Given the description of an element on the screen output the (x, y) to click on. 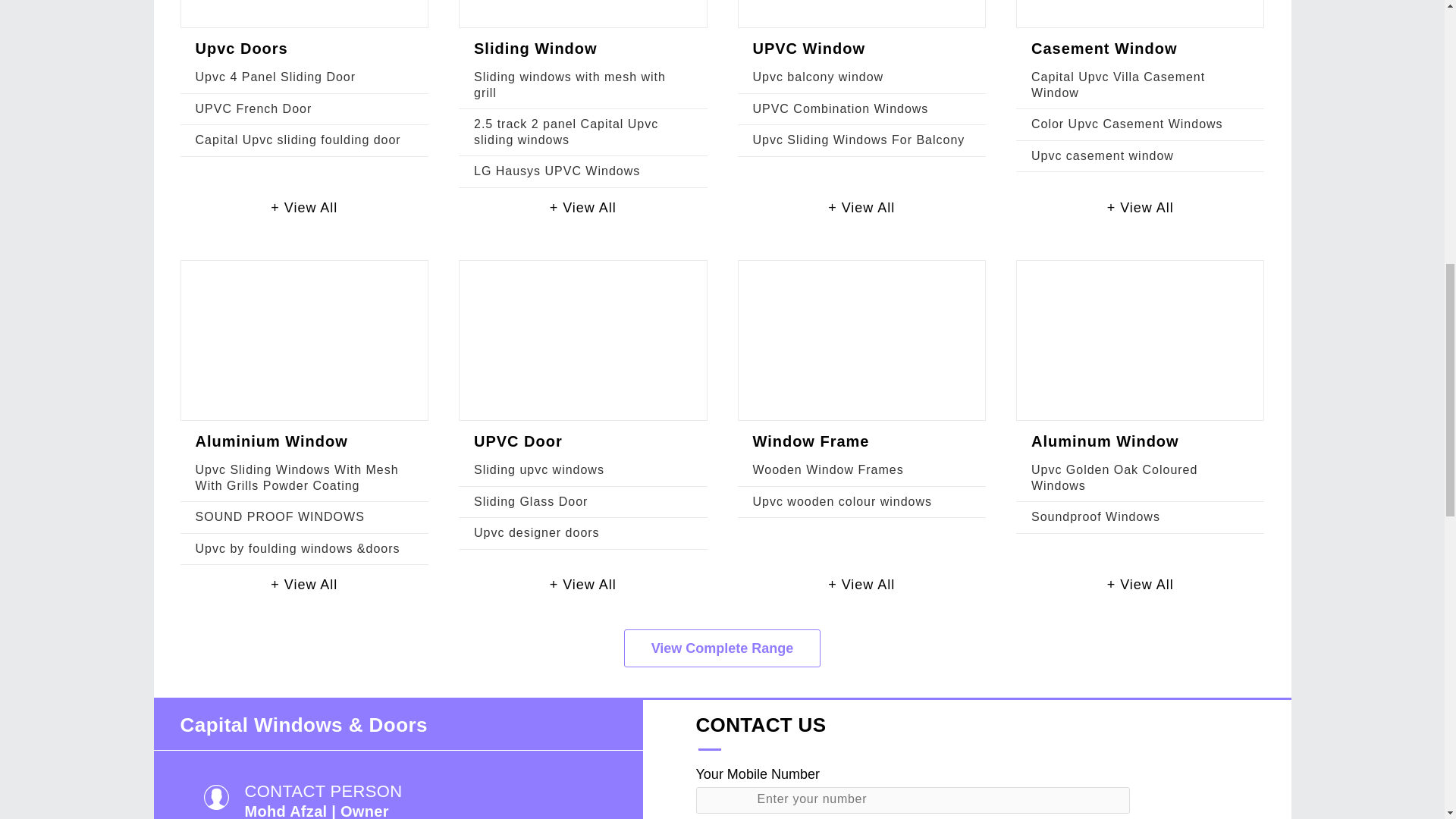
UPVC Window (808, 48)
Sliding windows with mesh with grill (569, 84)
UPVC Combination Windows (840, 108)
Sliding Window (535, 48)
Upvc 4 Panel Sliding Door (275, 76)
UPVC French Door (254, 108)
Upvc Doors (241, 48)
Upvc balcony window (817, 76)
LG Hausys UPVC Windows (557, 170)
Upvc Sliding Windows For Balcony (857, 139)
